Given the description of an element on the screen output the (x, y) to click on. 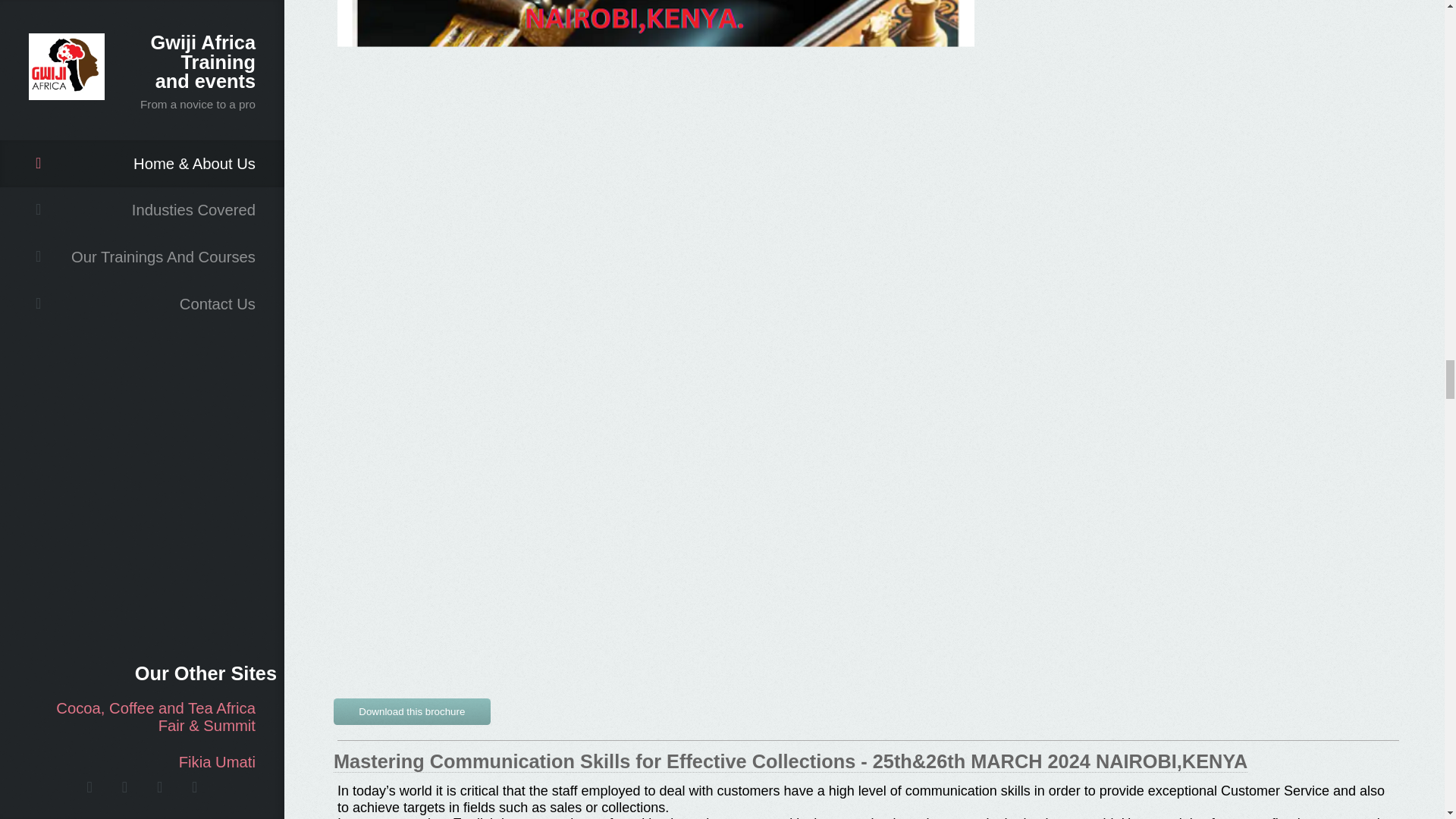
Download this brochure (411, 708)
Download this brochure (411, 711)
